Given the description of an element on the screen output the (x, y) to click on. 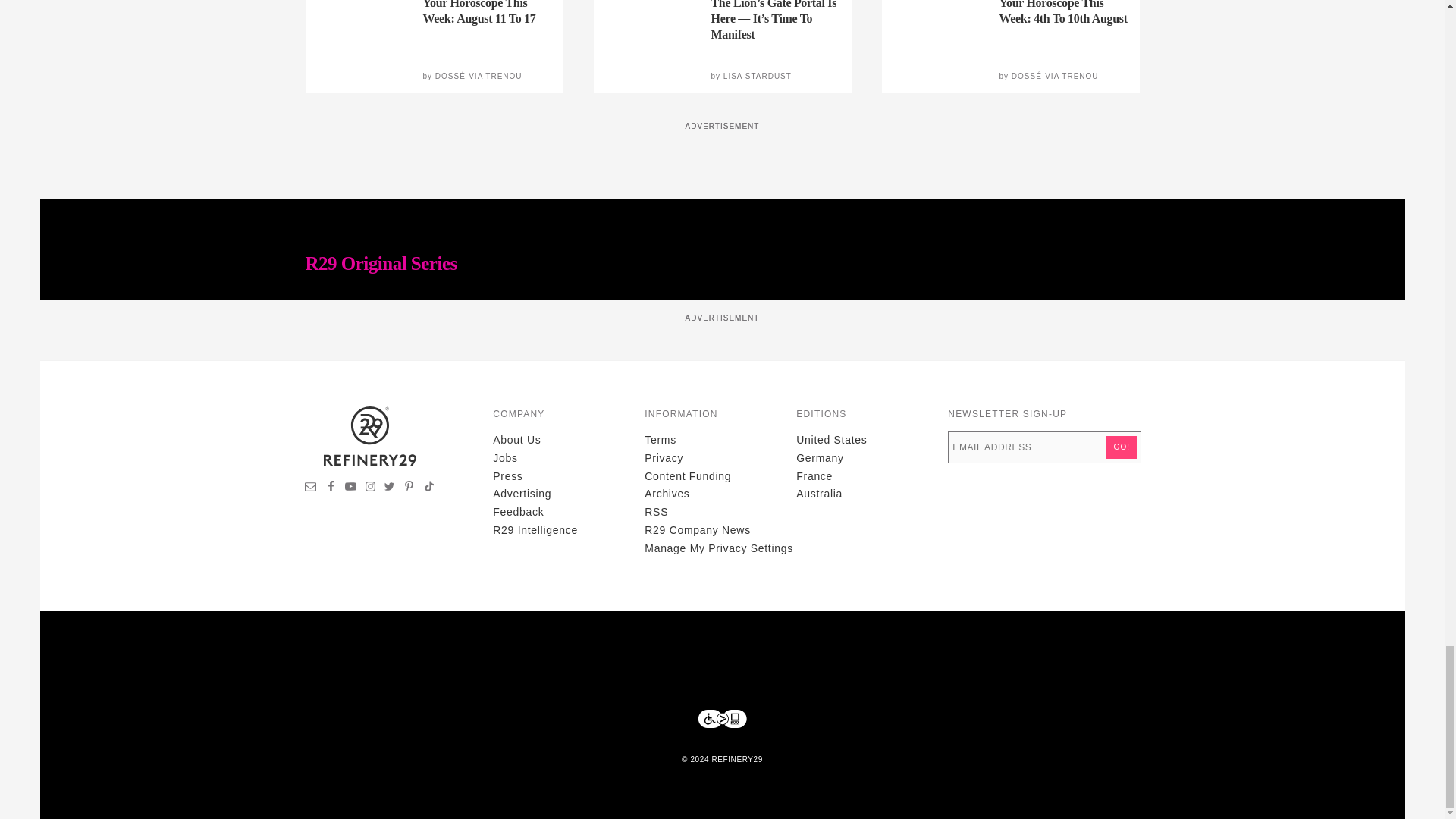
Sign up for newsletters (310, 488)
Visit Refinery29 on YouTube (350, 488)
Visit Refinery29 on TikTok (428, 488)
